Given the description of an element on the screen output the (x, y) to click on. 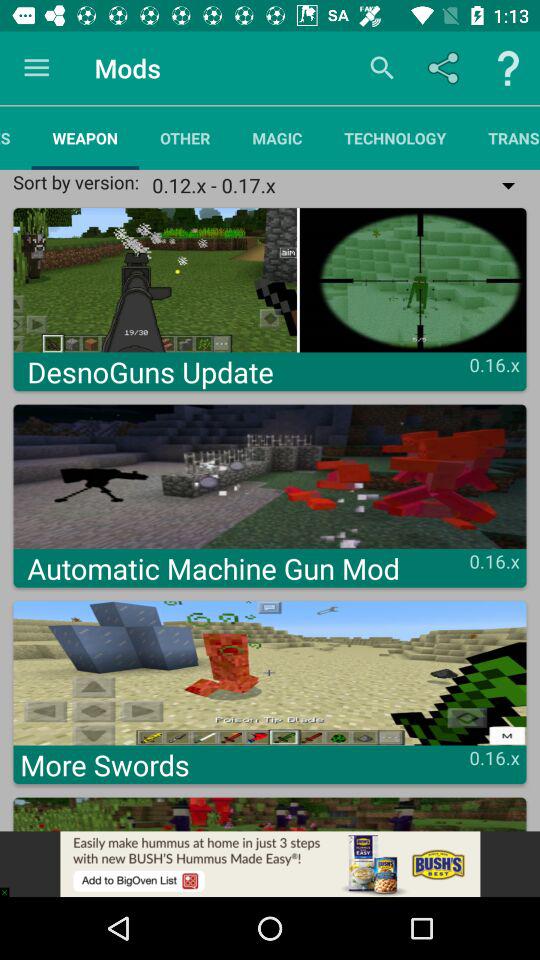
get help (508, 67)
